Given the description of an element on the screen output the (x, y) to click on. 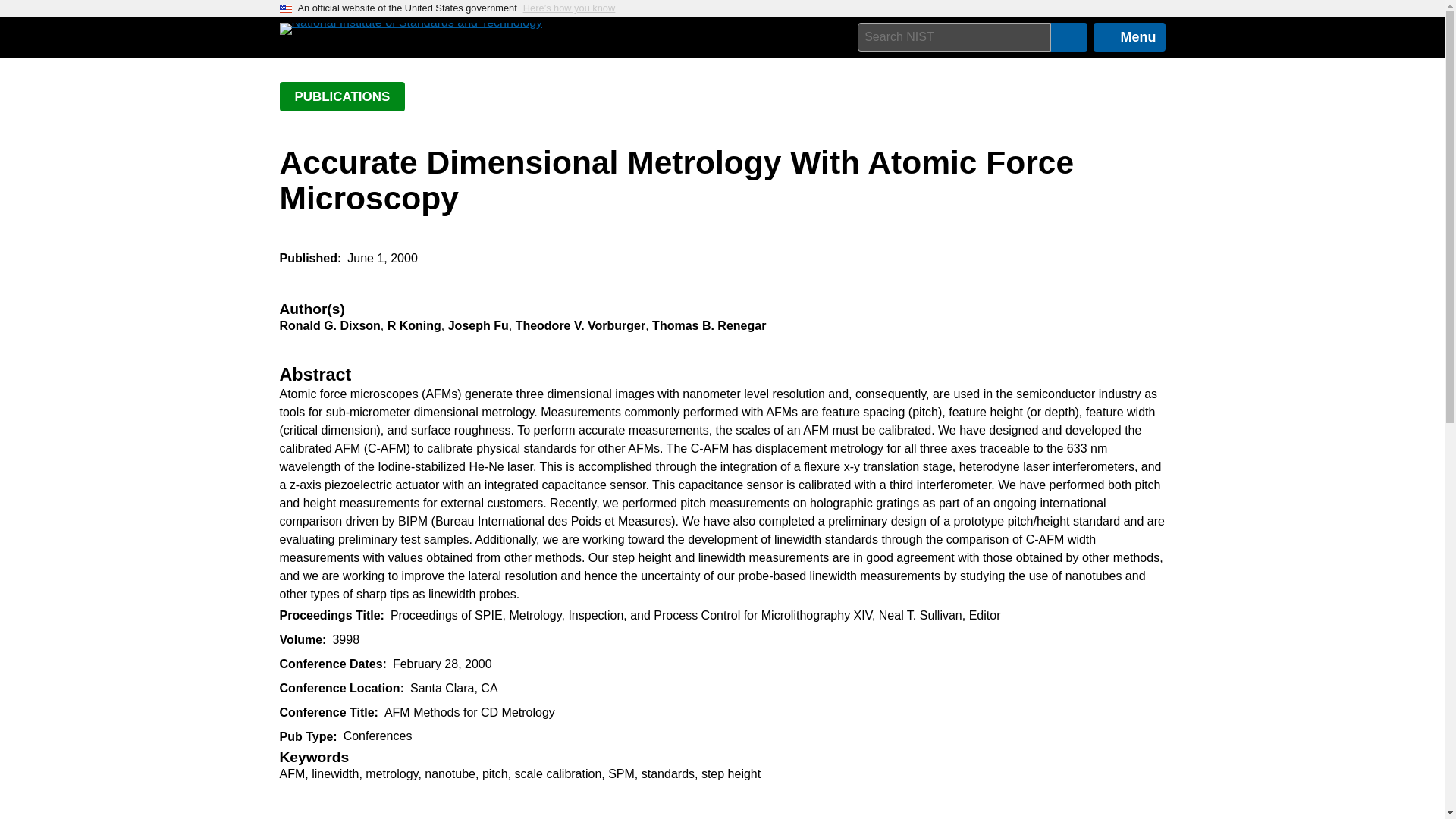
Menu (1129, 36)
National Institute of Standards and Technology (410, 28)
